Given the description of an element on the screen output the (x, y) to click on. 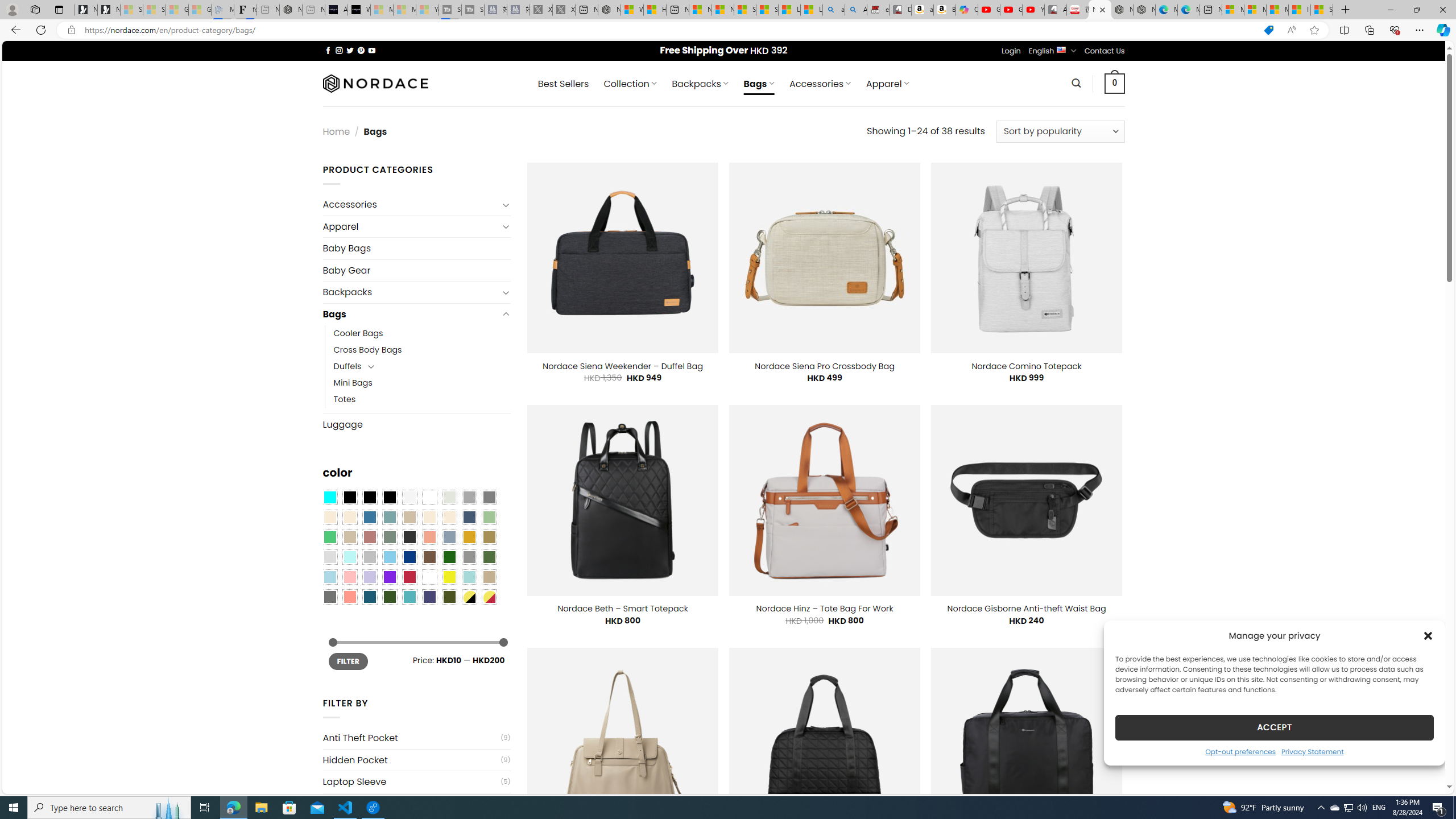
All Gray (488, 497)
Pink (349, 577)
Microsoft Start Sports - Sleeping (381, 9)
Aqua Blue (329, 497)
Ash Gray (449, 497)
Caramel (429, 517)
